Given the description of an element on the screen output the (x, y) to click on. 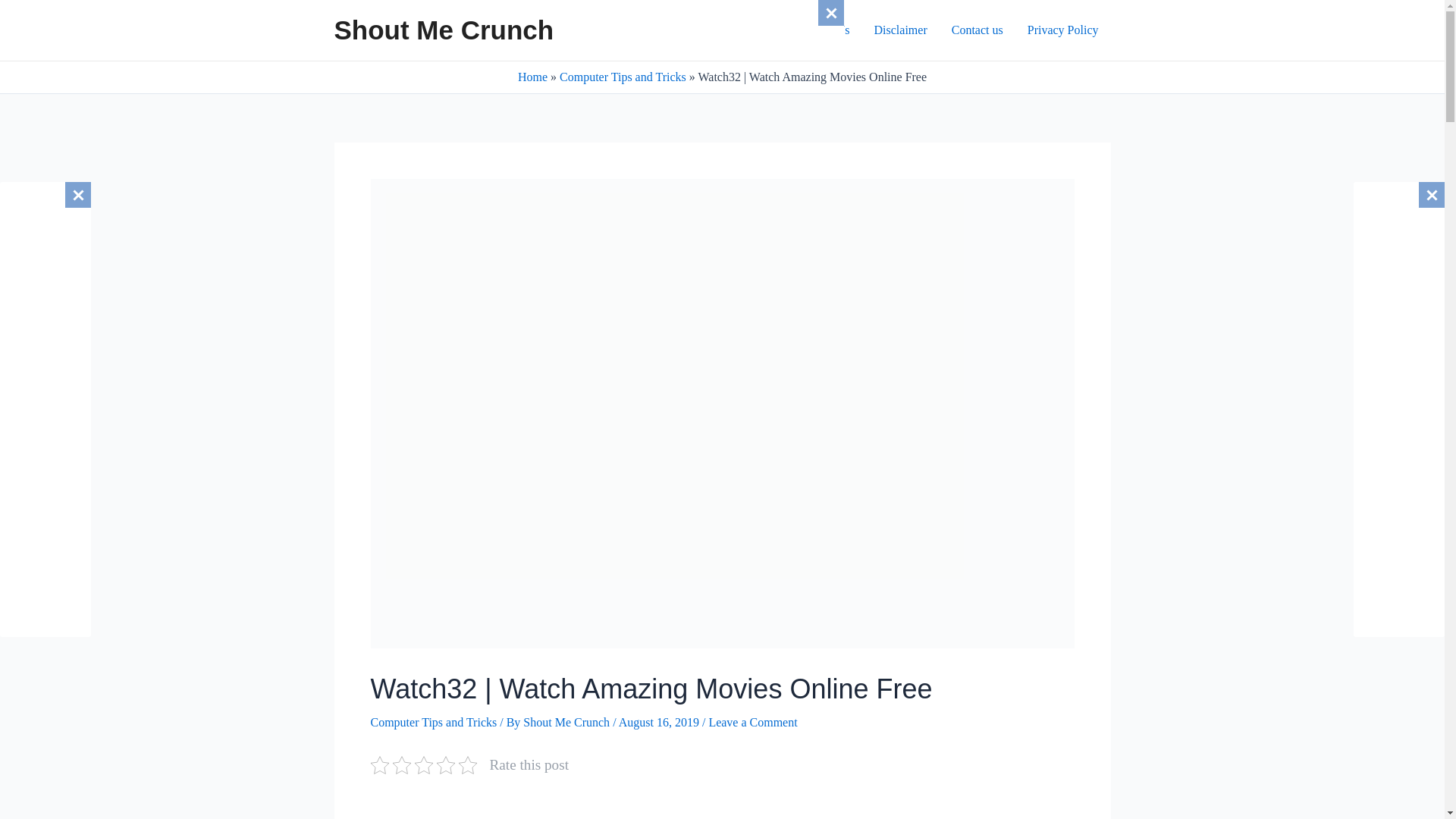
View all posts by Shout Me Crunch (567, 721)
Leave a Comment (751, 721)
Disclaimer (900, 30)
Computer Tips and Tricks (622, 76)
Privacy Policy (1062, 30)
Home (532, 76)
Contact us (976, 30)
Shout Me Crunch (443, 30)
Shout Me Crunch (567, 721)
Computer Tips and Tricks (432, 721)
